Given the description of an element on the screen output the (x, y) to click on. 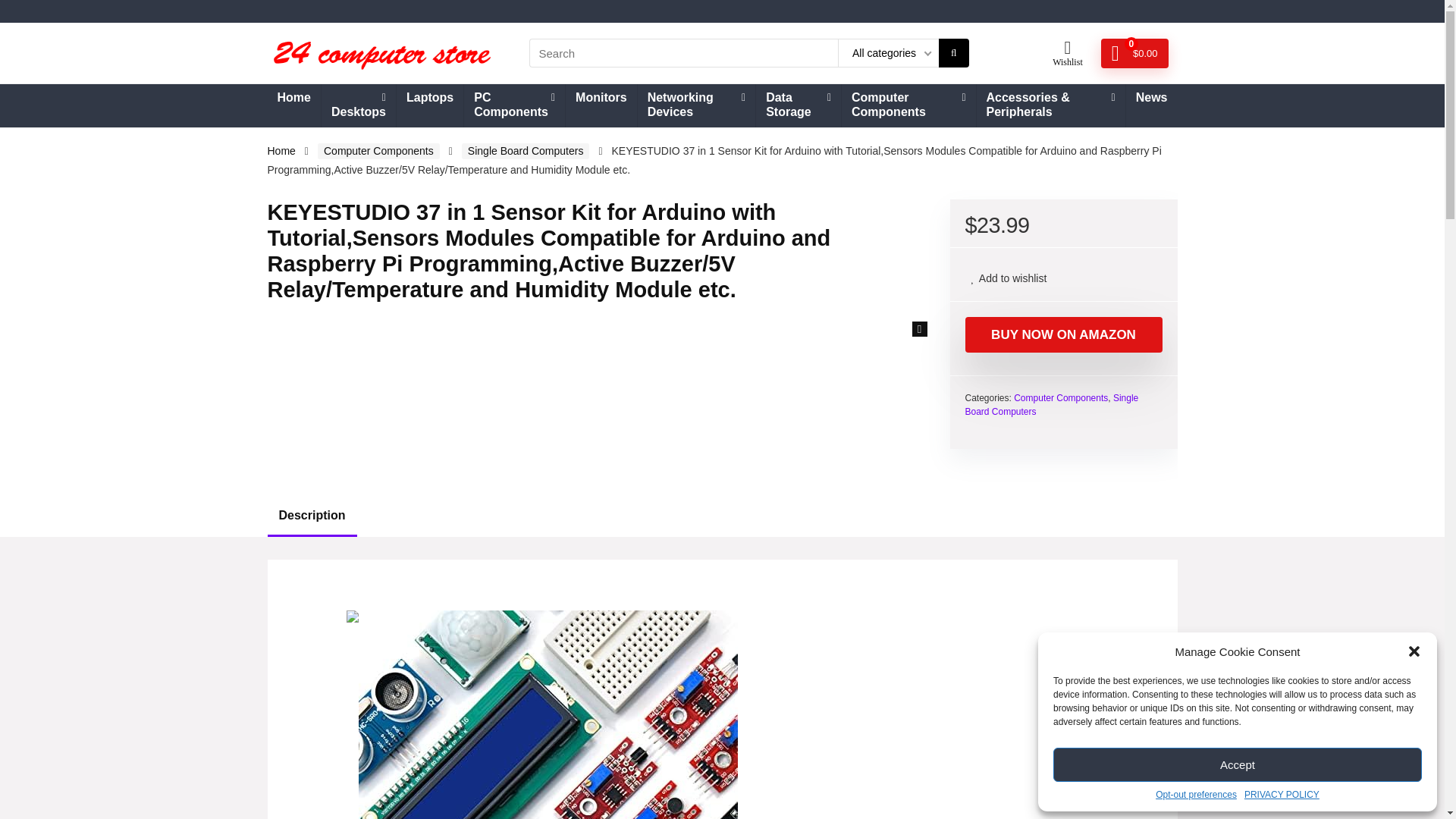
Opt-out preferences (1196, 794)
Description (721, 515)
Accept (1237, 764)
Monitors (601, 98)
PRIVACY POLICY (1281, 794)
Networking Devices (696, 105)
Desktops (358, 105)
PC Components (514, 105)
Laptops (429, 98)
Home (293, 98)
